Given the description of an element on the screen output the (x, y) to click on. 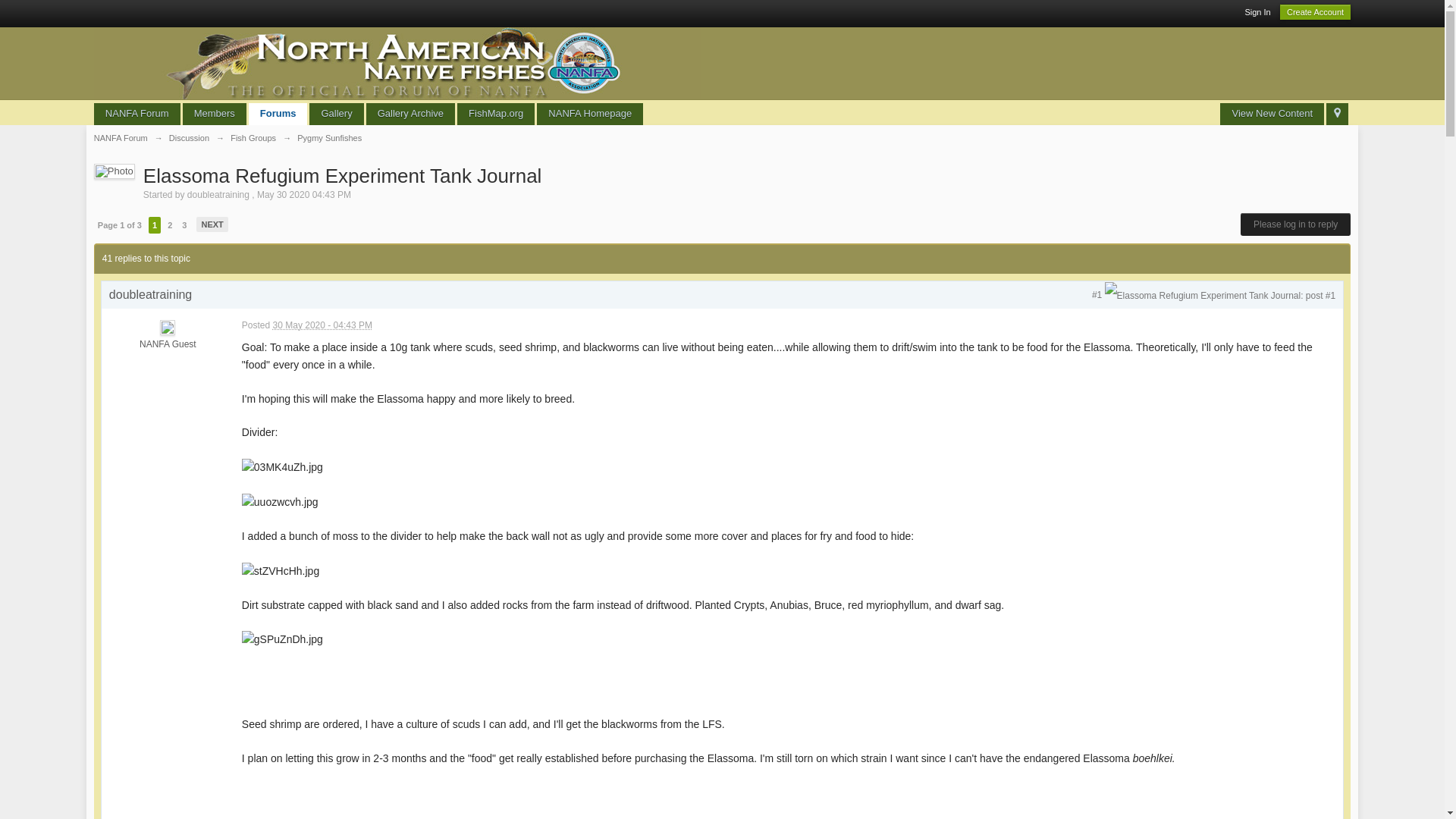
Forums (277, 114)
2 (169, 225)
Discussion (188, 137)
NANFA Forum (137, 114)
Create Account (1315, 11)
FishMap.org (495, 114)
Pygmy Sunfishes (329, 137)
Page 1 of 3 (119, 225)
Create Account (1315, 11)
FishMap (495, 114)
NEXT (211, 224)
3 (184, 225)
View New Content (1271, 114)
Sign In (1256, 11)
